Given the description of an element on the screen output the (x, y) to click on. 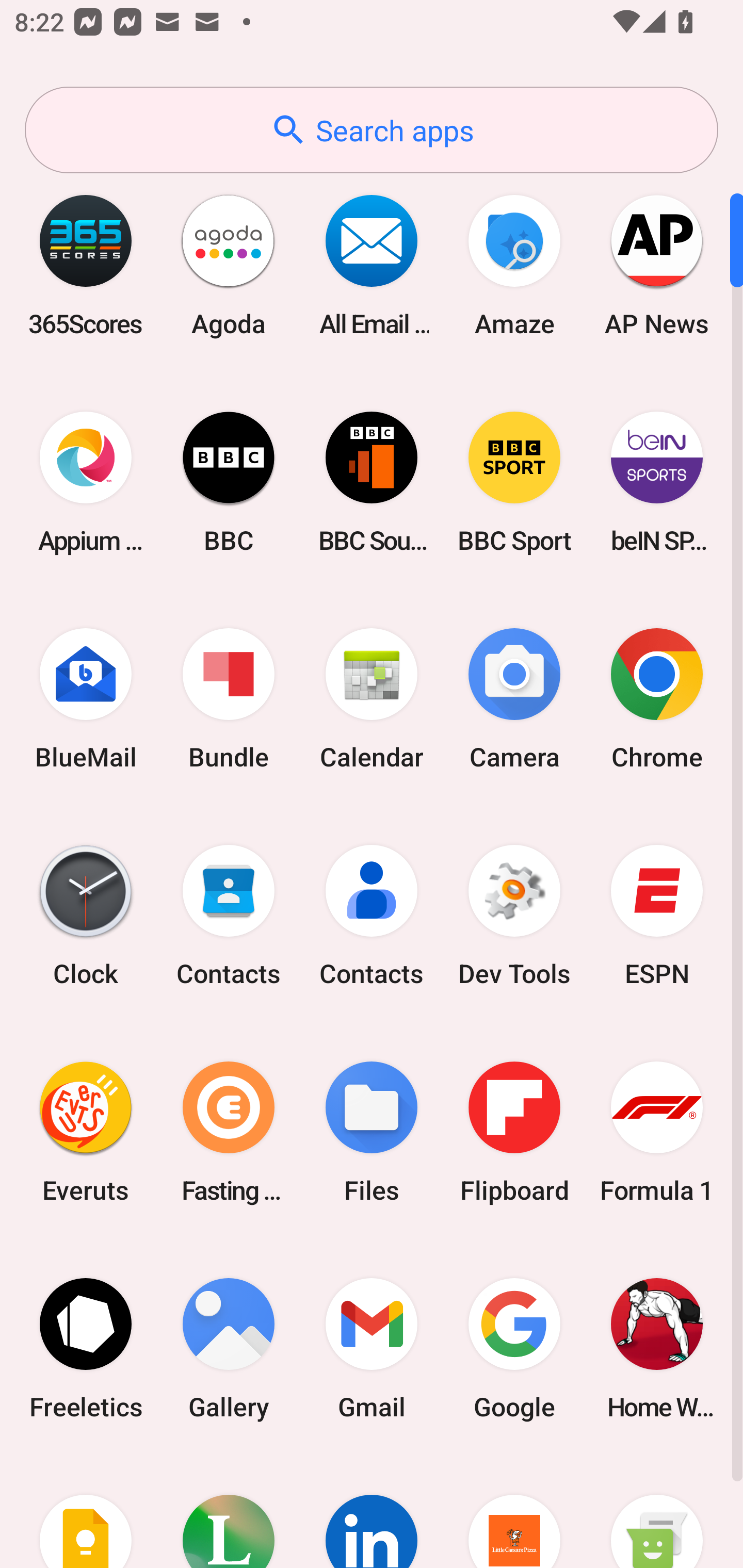
  Search apps (371, 130)
365Scores (85, 264)
Agoda (228, 264)
All Email Connect (371, 264)
Amaze (514, 264)
AP News (656, 264)
Appium Settings (85, 482)
BBC (228, 482)
BBC Sounds (371, 482)
BBC Sport (514, 482)
beIN SPORTS (656, 482)
BlueMail (85, 699)
Bundle (228, 699)
Calendar (371, 699)
Camera (514, 699)
Chrome (656, 699)
Clock (85, 915)
Contacts (228, 915)
Contacts (371, 915)
Dev Tools (514, 915)
ESPN (656, 915)
Everuts (85, 1131)
Fasting Coach (228, 1131)
Files (371, 1131)
Flipboard (514, 1131)
Formula 1 (656, 1131)
Freeletics (85, 1348)
Gallery (228, 1348)
Gmail (371, 1348)
Google (514, 1348)
Home Workout (656, 1348)
Keep Notes (85, 1512)
Lifesum (228, 1512)
LinkedIn (371, 1512)
Little Caesars Pizza (514, 1512)
Messaging (656, 1512)
